Given the description of an element on the screen output the (x, y) to click on. 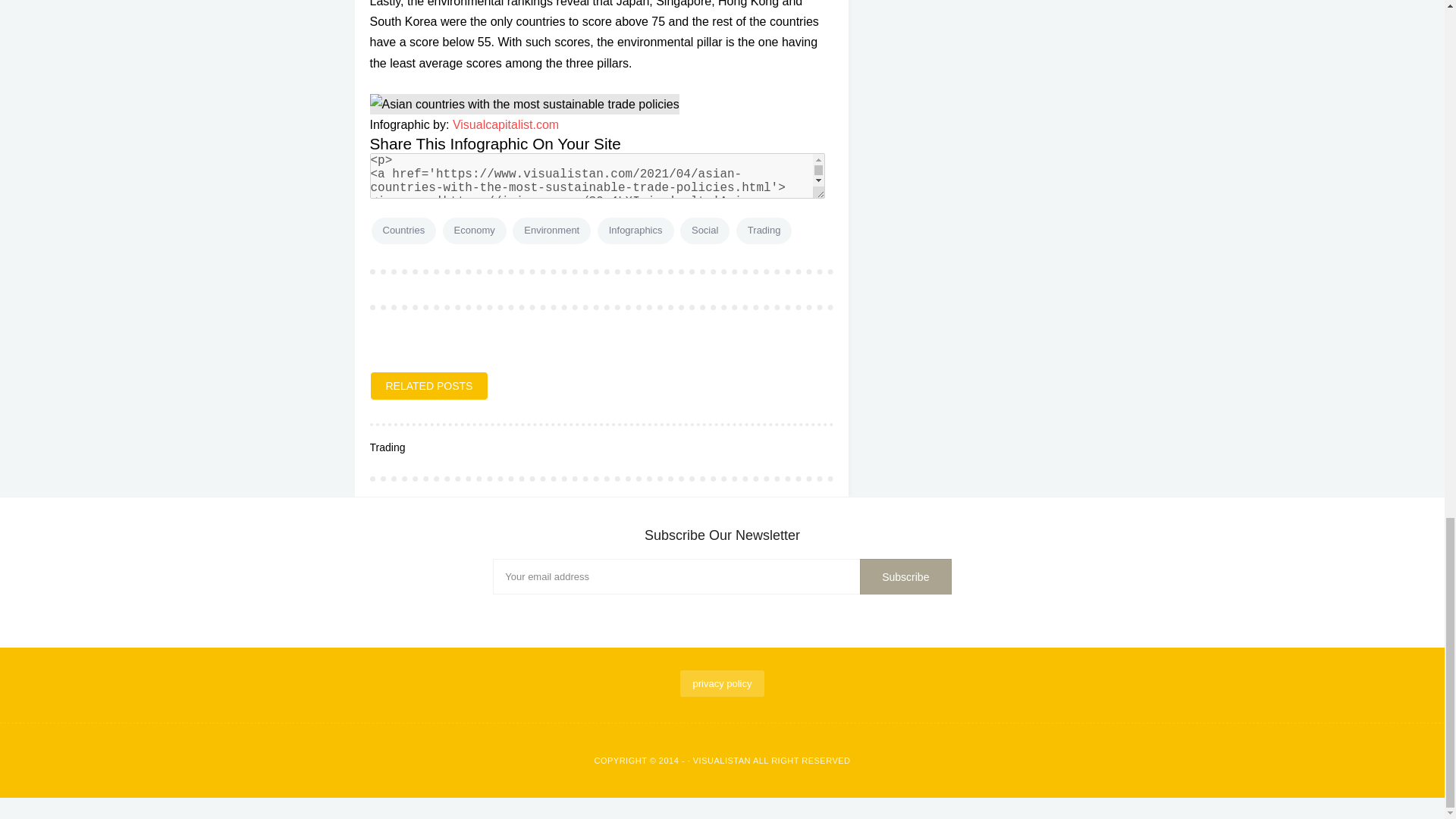
Social (704, 230)
Subscribe (906, 576)
Infographics (635, 230)
Visualcapitalist.com (505, 124)
Economy (474, 230)
Countries (403, 230)
Environment (551, 230)
Trading (764, 230)
